Given the description of an element on the screen output the (x, y) to click on. 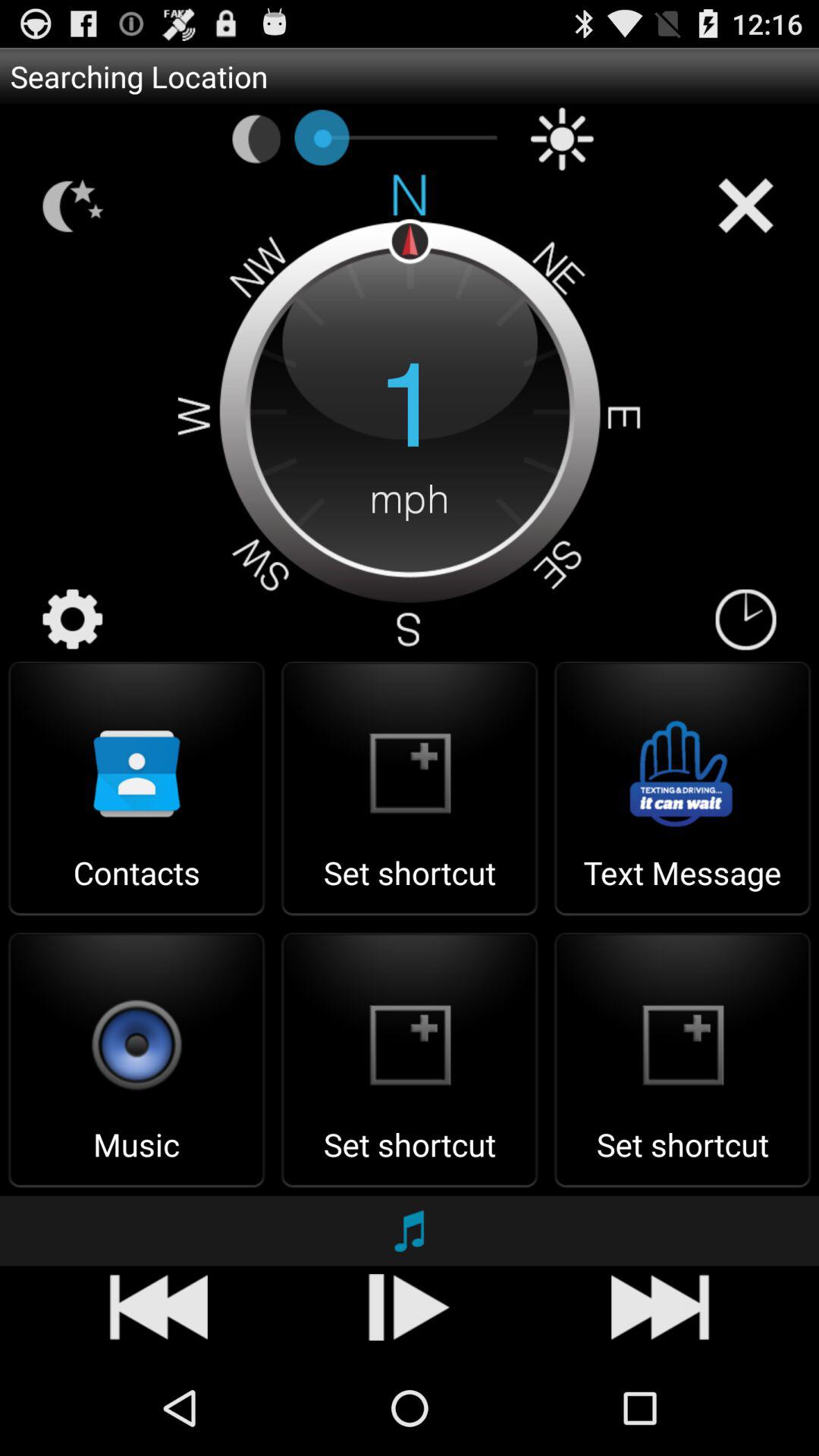
jump to 1 item (409, 408)
